Given the description of an element on the screen output the (x, y) to click on. 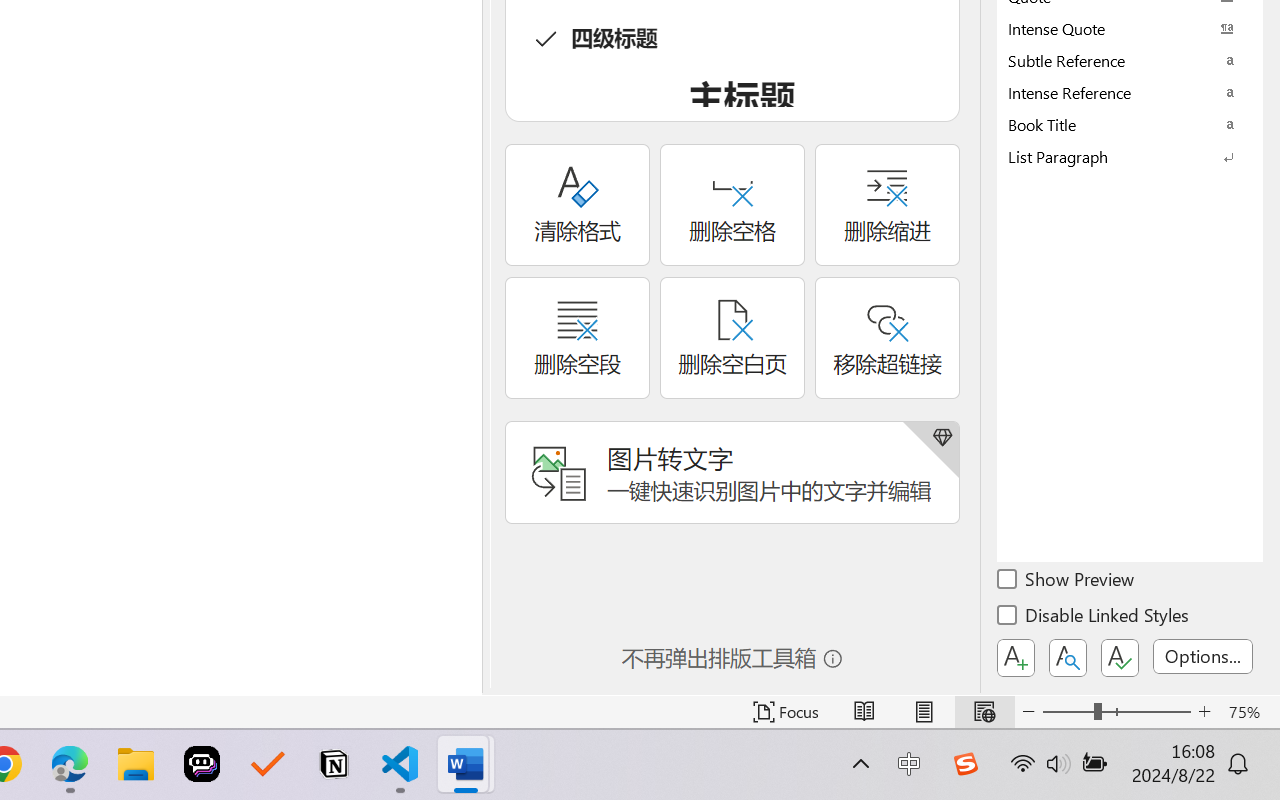
Book Title (1130, 124)
Zoom In (1204, 712)
Intense Quote (1130, 28)
Focus  (786, 712)
Print Layout (924, 712)
Show Preview (1067, 582)
Poe (201, 764)
